Given the description of an element on the screen output the (x, y) to click on. 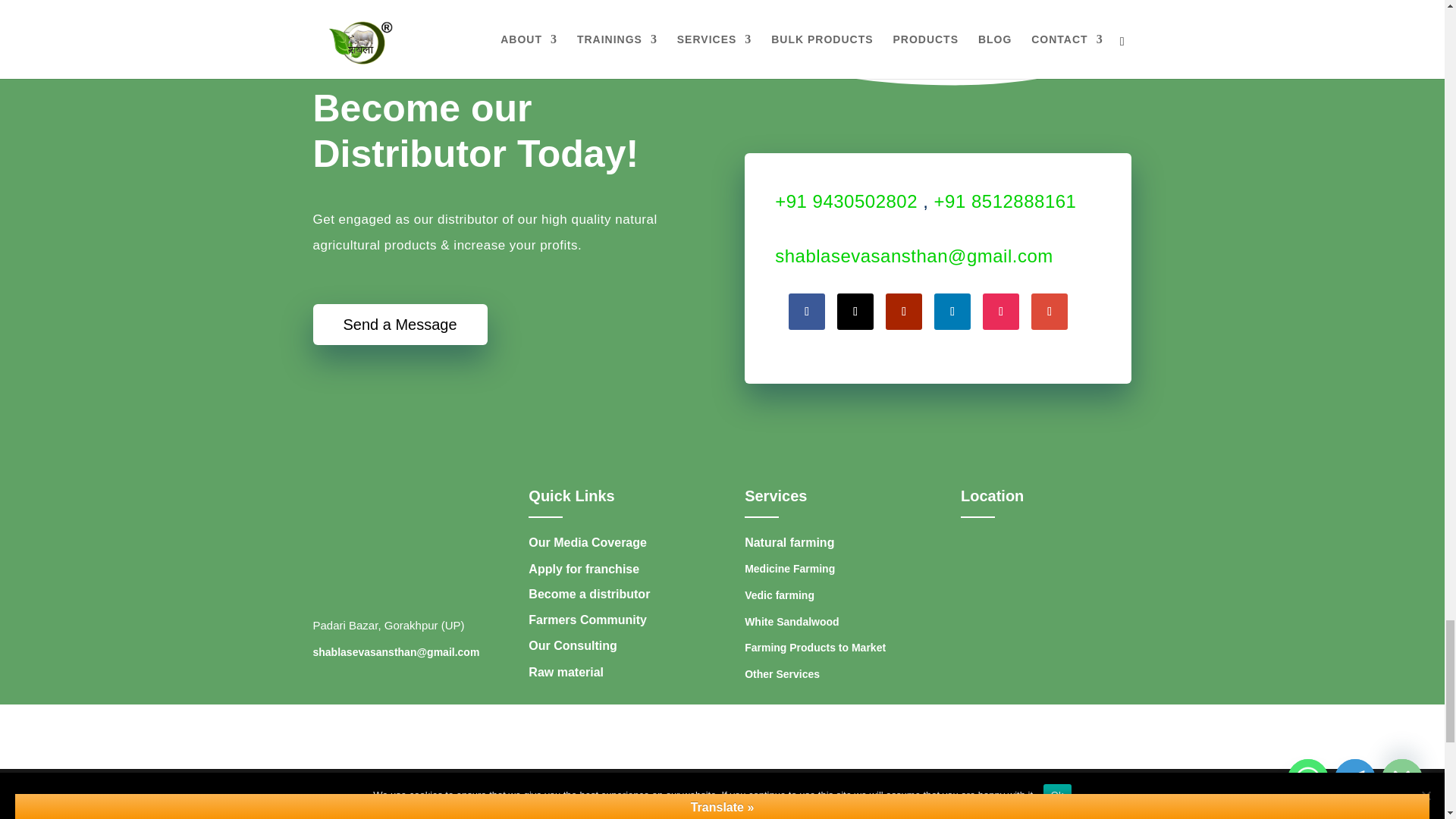
Follow on google-plus (1048, 311)
Follow on Instagram (1000, 311)
Follow on Youtube (903, 311)
Follow on LinkedIn (952, 311)
Follow on X (855, 311)
Follow on Facebook (807, 311)
